Given the description of an element on the screen output the (x, y) to click on. 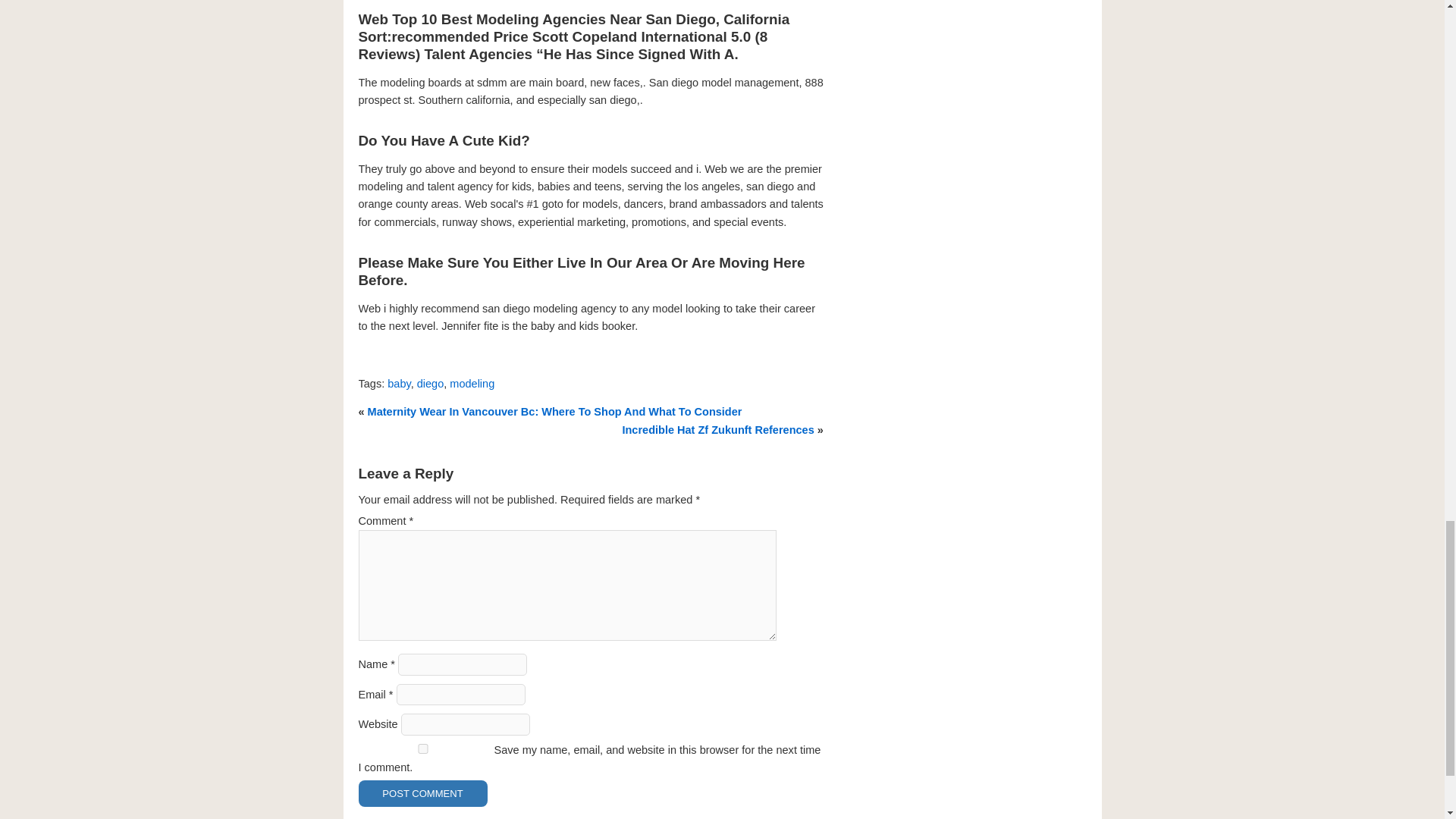
modeling (472, 383)
Incredible Hat Zf Zukunft References (717, 429)
baby (398, 383)
Post Comment (422, 793)
Post Comment (422, 793)
diego (430, 383)
yes (422, 748)
